Given the description of an element on the screen output the (x, y) to click on. 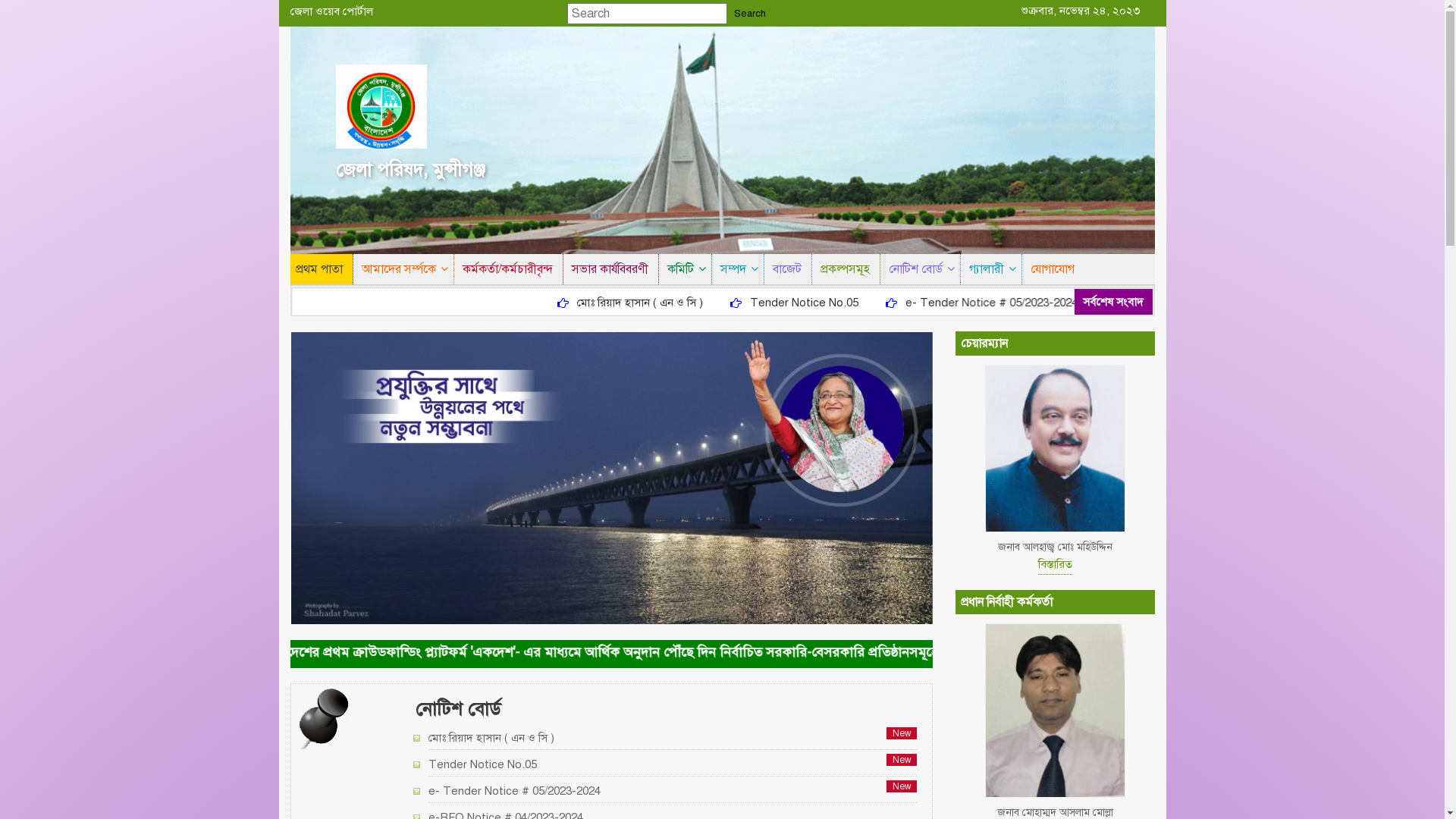
e- Tender Notice # 05/2023-2024 Element type: text (672, 791)
Tender Notice No.05 Element type: text (672, 764)
Search Element type: text (749, 13)
e- Tender Notice # 05/2023-2024 Element type: text (1076, 302)
e-RFQ Notice # 04/2023-2024 Element type: text (1285, 302)
Tender Notice No.05 Element type: text (889, 302)
